Given the description of an element on the screen output the (x, y) to click on. 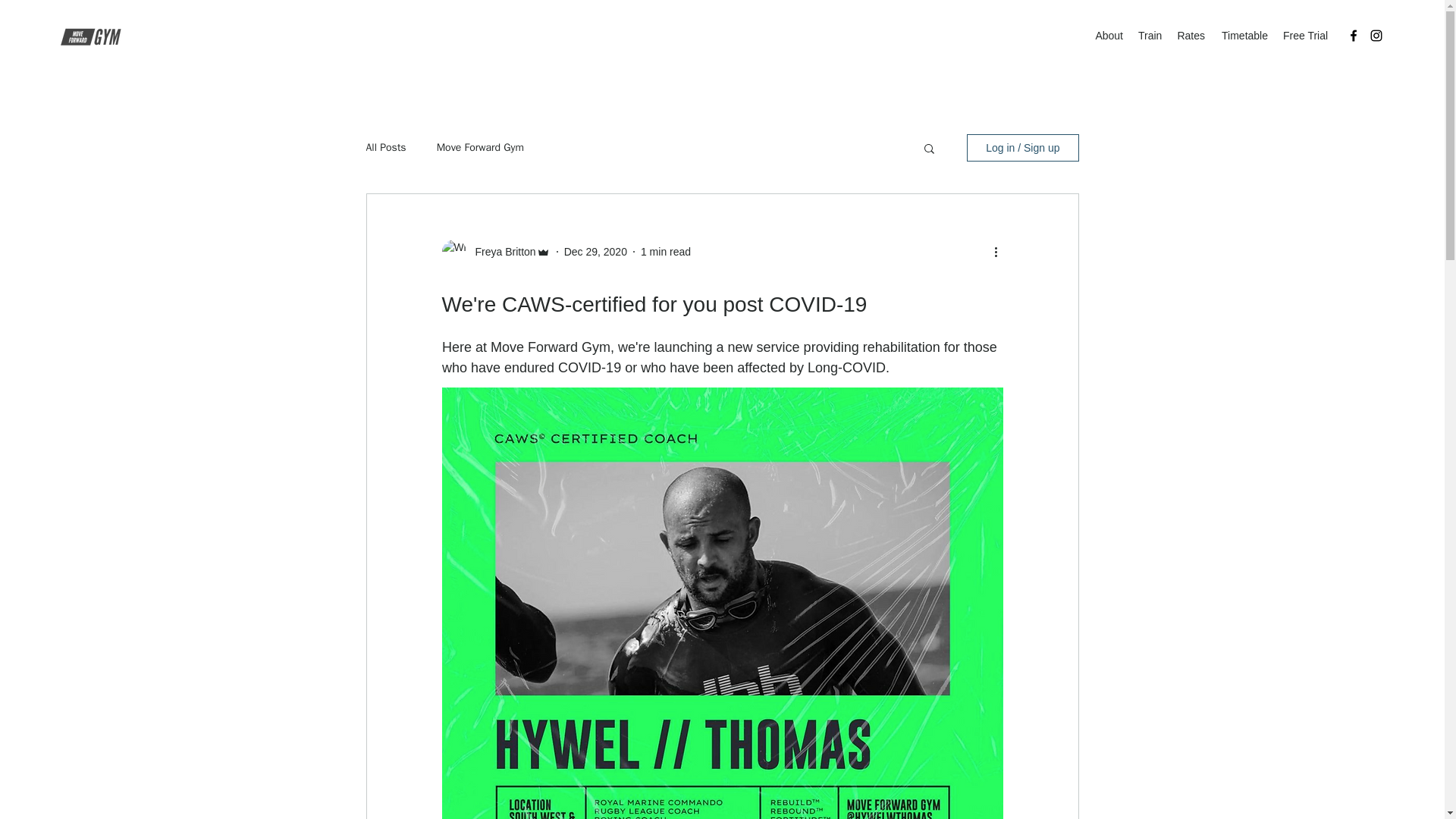
Timetable (1243, 35)
1 min read (665, 251)
Move Forward Gym (480, 147)
All Posts (385, 147)
Rates (1190, 35)
Dec 29, 2020 (595, 251)
Free Trial (1305, 35)
Freya Britton (500, 252)
